Given the description of an element on the screen output the (x, y) to click on. 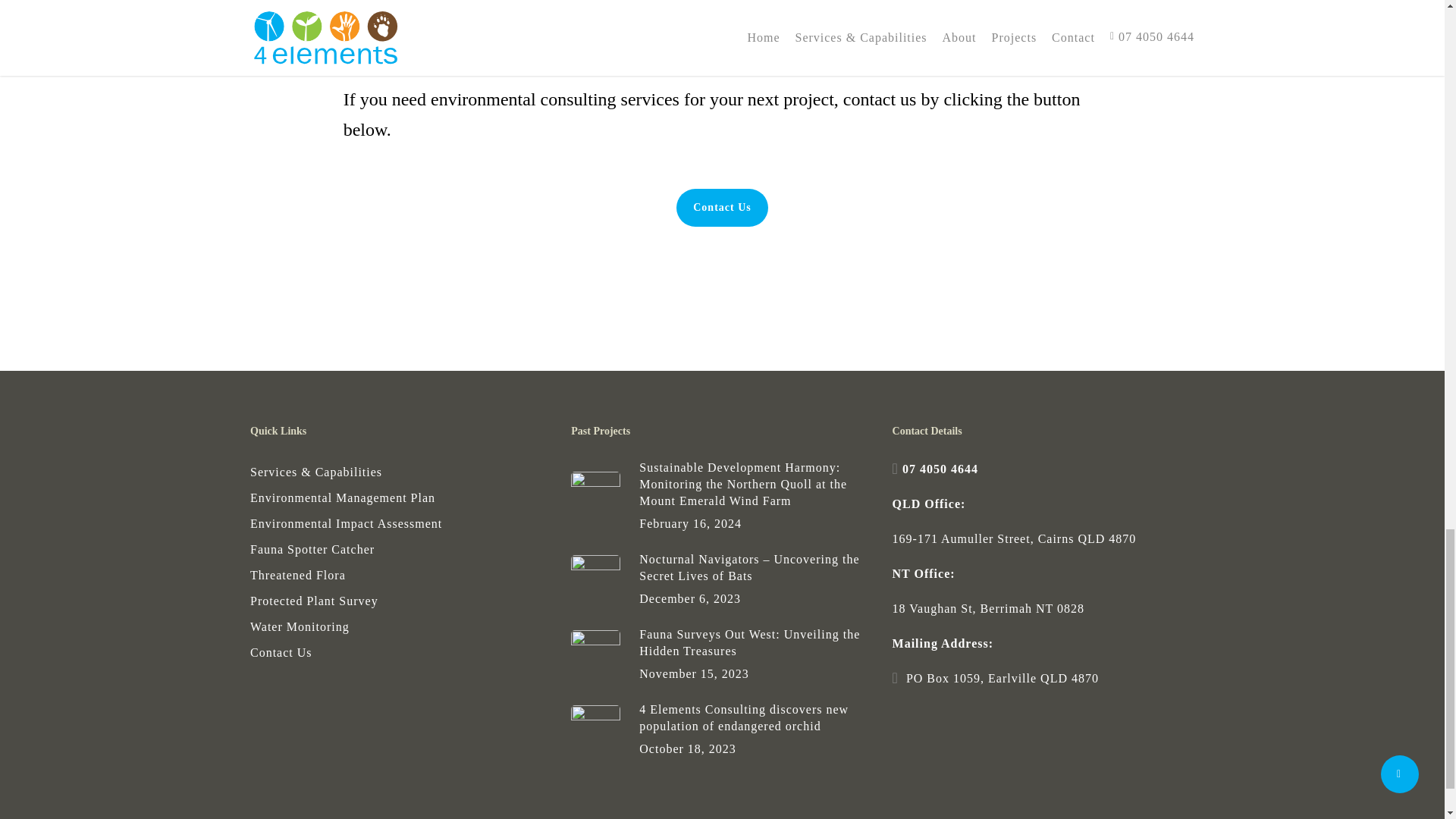
Environmental Management Plan (400, 497)
Environmental Impact Assessment (400, 523)
Threatened Flora (400, 575)
management plans (394, 45)
Contact Us (722, 207)
Fauna Spotter Catcher (400, 549)
